Given the description of an element on the screen output the (x, y) to click on. 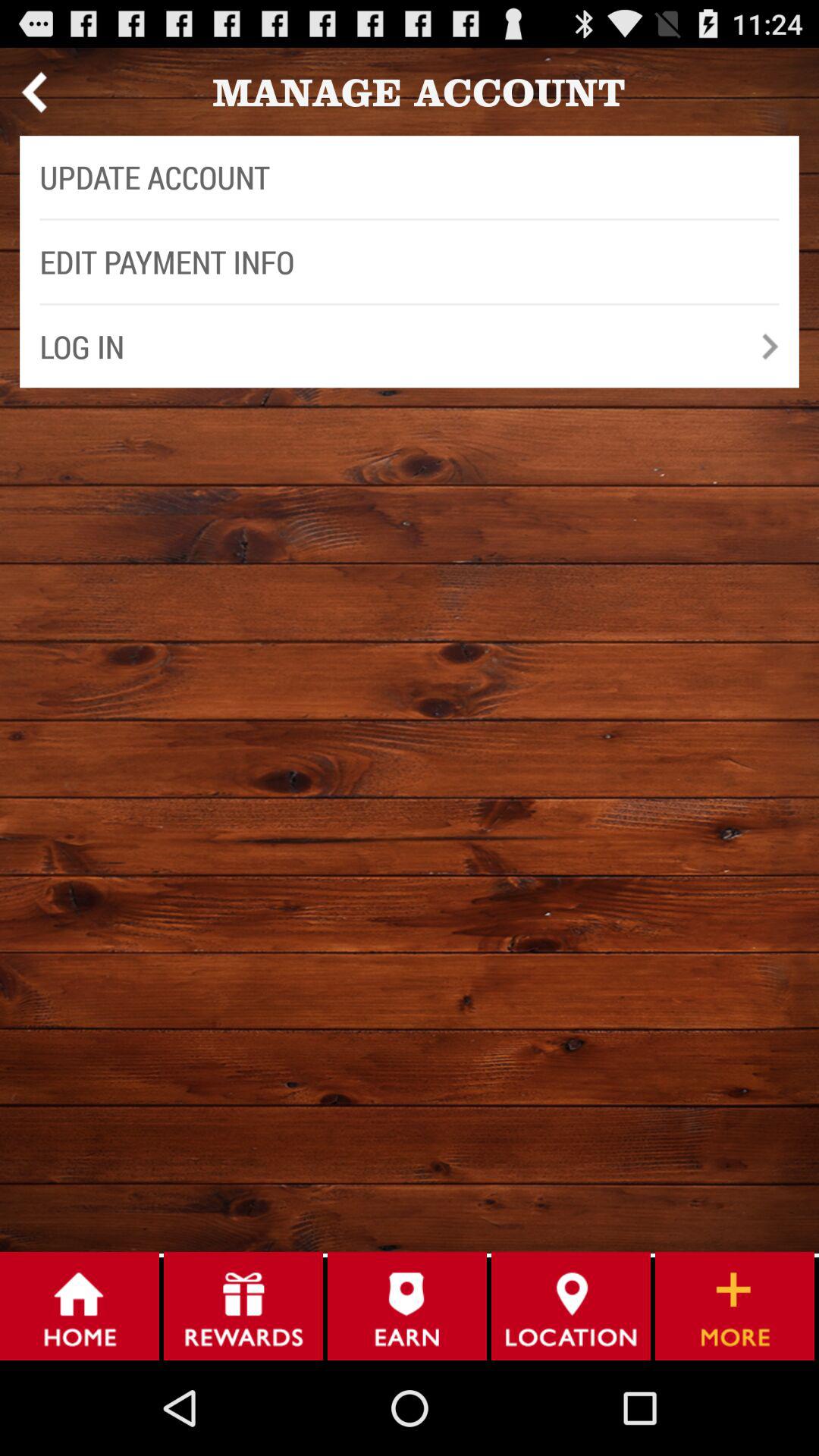
click app next to the manage account icon (33, 91)
